Given the description of an element on the screen output the (x, y) to click on. 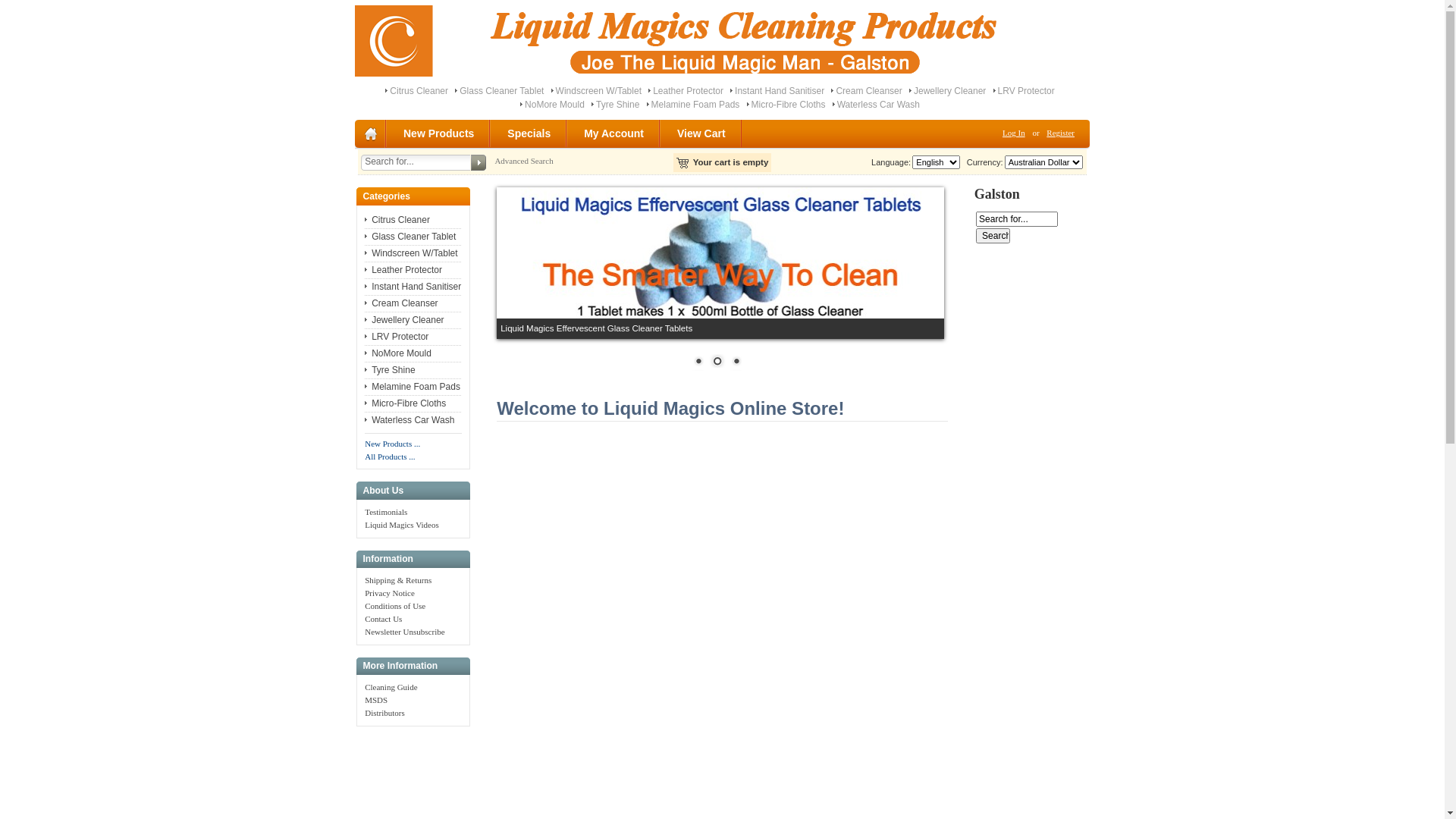
Privacy Notice Element type: text (389, 592)
1 Element type: text (698, 362)
LRV Protector Element type: text (396, 336)
Jewellery Cleaner Element type: text (403, 319)
Tyre Shine Element type: text (389, 369)
3 Element type: text (736, 362)
Melamine Foam Pads Element type: text (412, 386)
MSDS Element type: text (375, 699)
Cream Cleanser Element type: text (400, 303)
LRV Protector Element type: text (1026, 90)
Tyre Shine Element type: text (617, 104)
Glass Cleaner Tablet Element type: text (501, 90)
Instant Hand Sanitiser Element type: text (779, 90)
New Products ... Element type: text (392, 443)
New Products Element type: text (439, 133)
Conditions of Use Element type: text (394, 605)
Citrus Cleaner Element type: text (418, 90)
Leather Protector Element type: text (403, 269)
Testimonials Element type: text (385, 511)
Jewellery Cleaner Element type: text (949, 90)
Micro-Fibre Cloths Element type: text (788, 104)
Windscreen W/Tablet Element type: text (598, 90)
Melamine Foam Pads Element type: text (695, 104)
Micro-Fibre Cloths Element type: text (404, 403)
NoMore Mould Element type: text (397, 353)
Glass Cleaner Tablet Element type: text (409, 236)
View Cart Element type: text (701, 133)
Distributors Element type: text (384, 712)
Register Element type: text (1060, 132)
Windscreen W/Tablet Element type: text (410, 252)
Leather Protector Element type: text (688, 90)
All Products ... Element type: text (389, 456)
Search Element type: text (992, 235)
Cleaning Guide Element type: text (390, 686)
NoMore Mould Element type: text (554, 104)
Shipping & Returns Element type: text (397, 579)
My Account Element type: text (614, 133)
Instant Hand Sanitiser Element type: text (412, 286)
Citrus Cleaner Element type: text (396, 219)
2 Element type: text (717, 362)
Log In Element type: text (1013, 132)
Cream Cleanser Element type: text (868, 90)
Newsletter Unsubscribe Element type: text (404, 631)
Specials Element type: text (529, 133)
Liquid Magics Videos Element type: text (401, 524)
Waterless Car Wash Element type: text (409, 419)
Advanced Search Element type: text (523, 160)
Waterless Car Wash Element type: text (878, 104)
Contact Us Element type: text (382, 618)
